Given the description of an element on the screen output the (x, y) to click on. 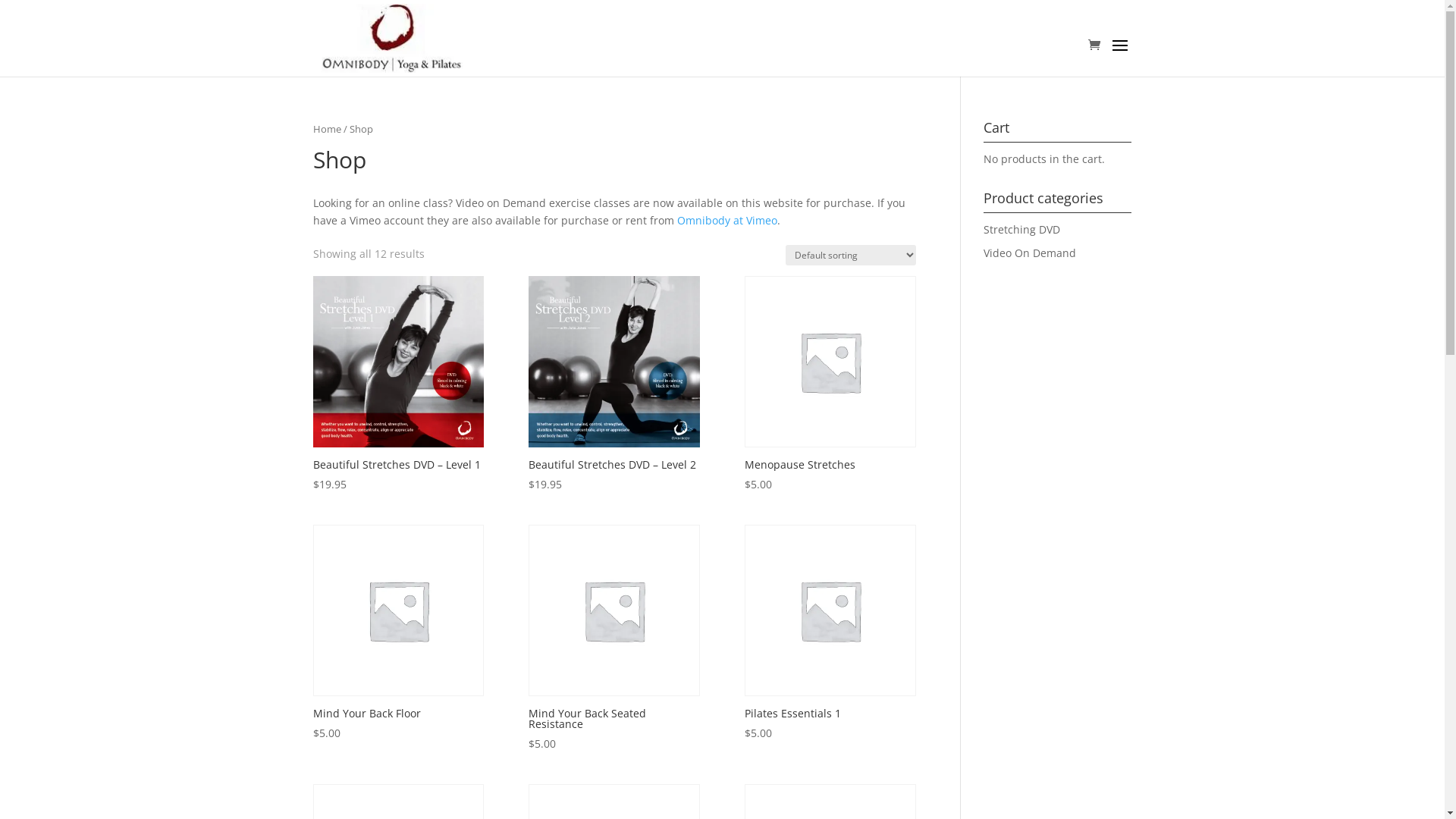
Video On Demand Element type: text (1029, 252)
Stretching DVD Element type: text (1021, 229)
Menopause Stretches
$5.00 Element type: text (829, 384)
Mind Your Back Floor
$5.00 Element type: text (397, 632)
Omnibody at Vimeo Element type: text (726, 220)
Mind Your Back Seated Resistance
$5.00 Element type: text (613, 638)
Home Element type: text (326, 128)
Pilates Essentials 1
$5.00 Element type: text (829, 632)
